Given the description of an element on the screen output the (x, y) to click on. 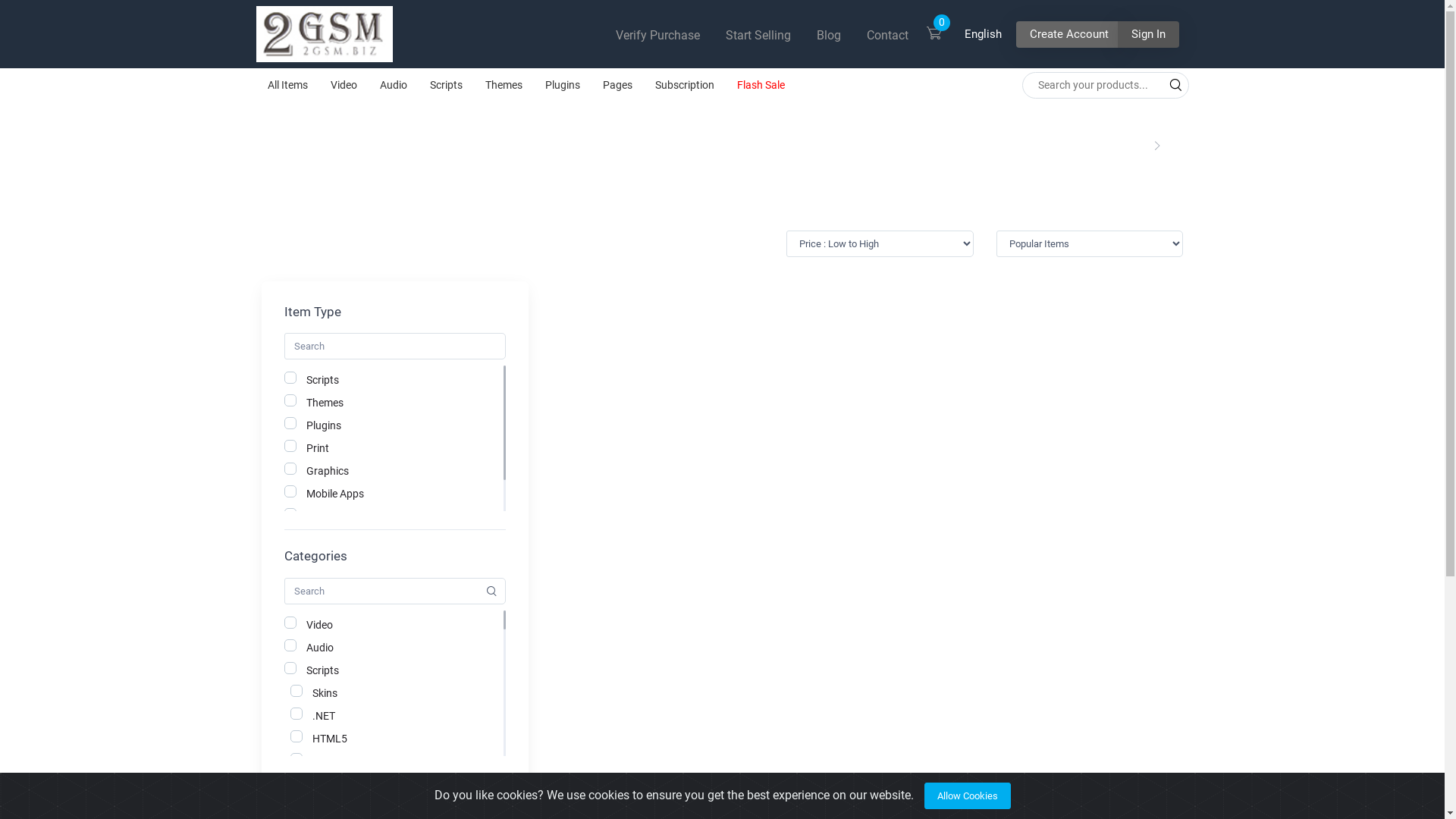
Create Account Element type: text (1069, 34)
Home Element type: text (1127, 144)
Video Element type: text (342, 84)
Start Selling Element type: text (757, 35)
Verify Purchase Element type: text (657, 35)
Allow Cookies Element type: text (966, 795)
Plugins Element type: text (562, 84)
Audio Element type: text (393, 84)
Pages Element type: text (617, 84)
Blog Element type: text (827, 35)
Themes Element type: text (503, 84)
Flash Sale Element type: text (759, 84)
Contact Element type: text (886, 35)
Scripts Element type: text (445, 84)
Subscription Element type: text (683, 84)
All Items Element type: text (287, 84)
Sign In Element type: text (1148, 34)
